Given the description of an element on the screen output the (x, y) to click on. 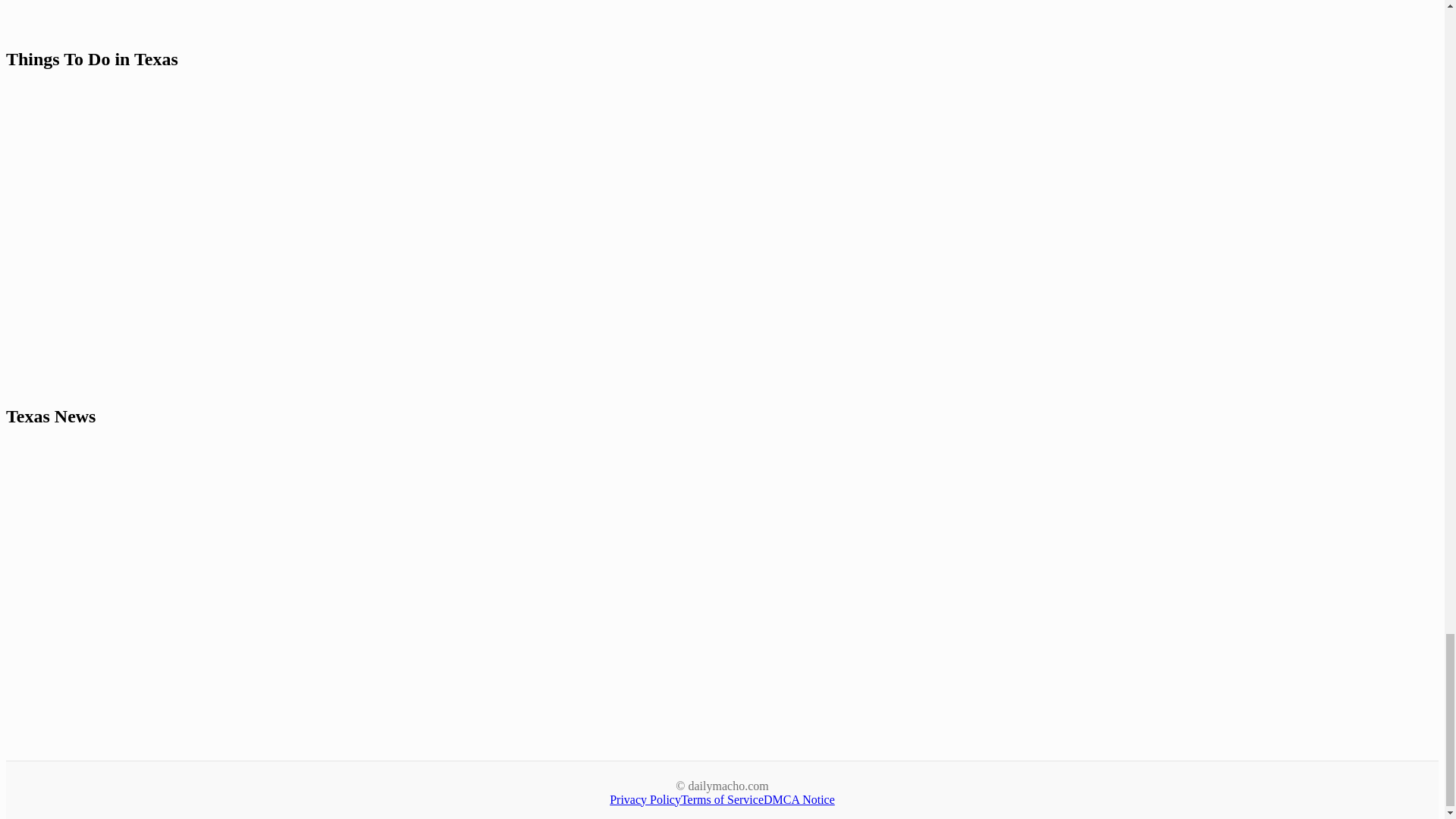
Terms of Service (721, 799)
DMCA Notice (798, 799)
Privacy Policy (645, 799)
